Given the description of an element on the screen output the (x, y) to click on. 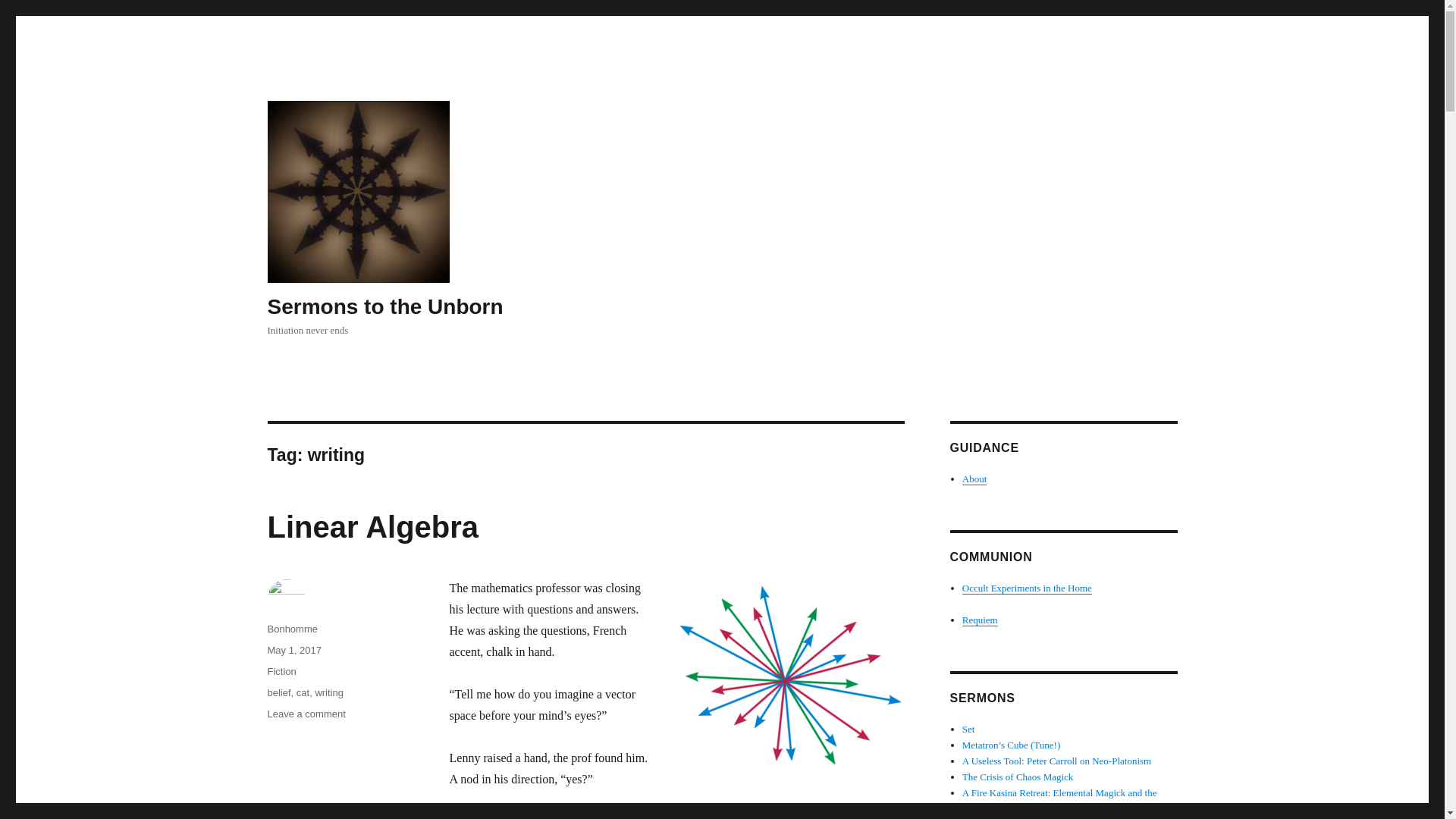
belief (277, 692)
May 1, 2017 (293, 650)
Linear Algebra (372, 526)
Sermons to the Unborn (384, 306)
Bonhomme (305, 713)
Fiction (291, 628)
Occult Experiments in the Home (280, 671)
Requiem (1027, 587)
writing (979, 619)
